Given the description of an element on the screen output the (x, y) to click on. 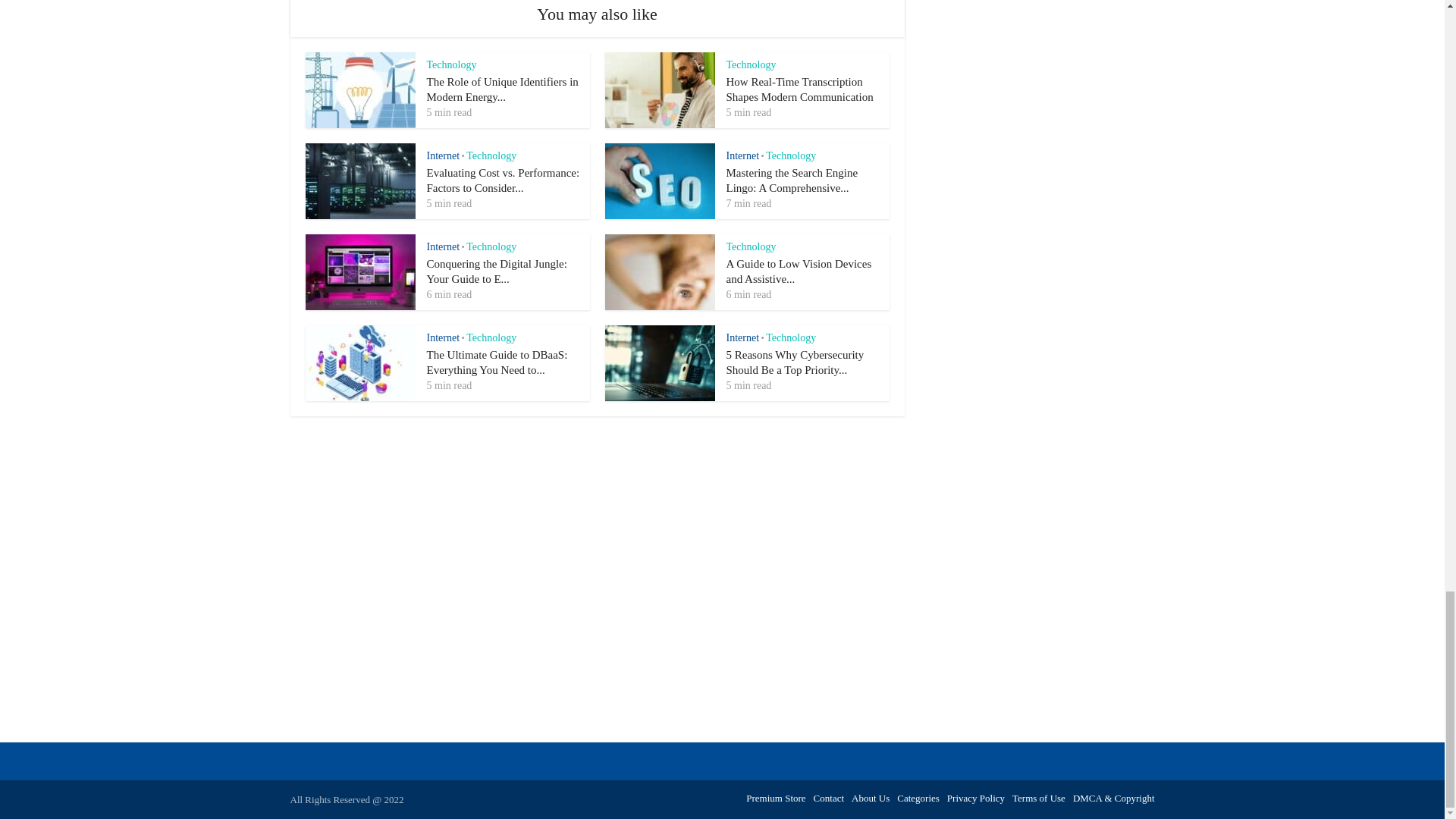
The Role of Unique Identifiers in Modern Energy Management (502, 89)
The Ultimate Guide to DBaaS: Everything You Need to Know (496, 361)
How Real-Time Transcription Shapes Modern Communication (799, 89)
A Guide to Low Vision Devices and Assistive Technologies (799, 271)
